Given the description of an element on the screen output the (x, y) to click on. 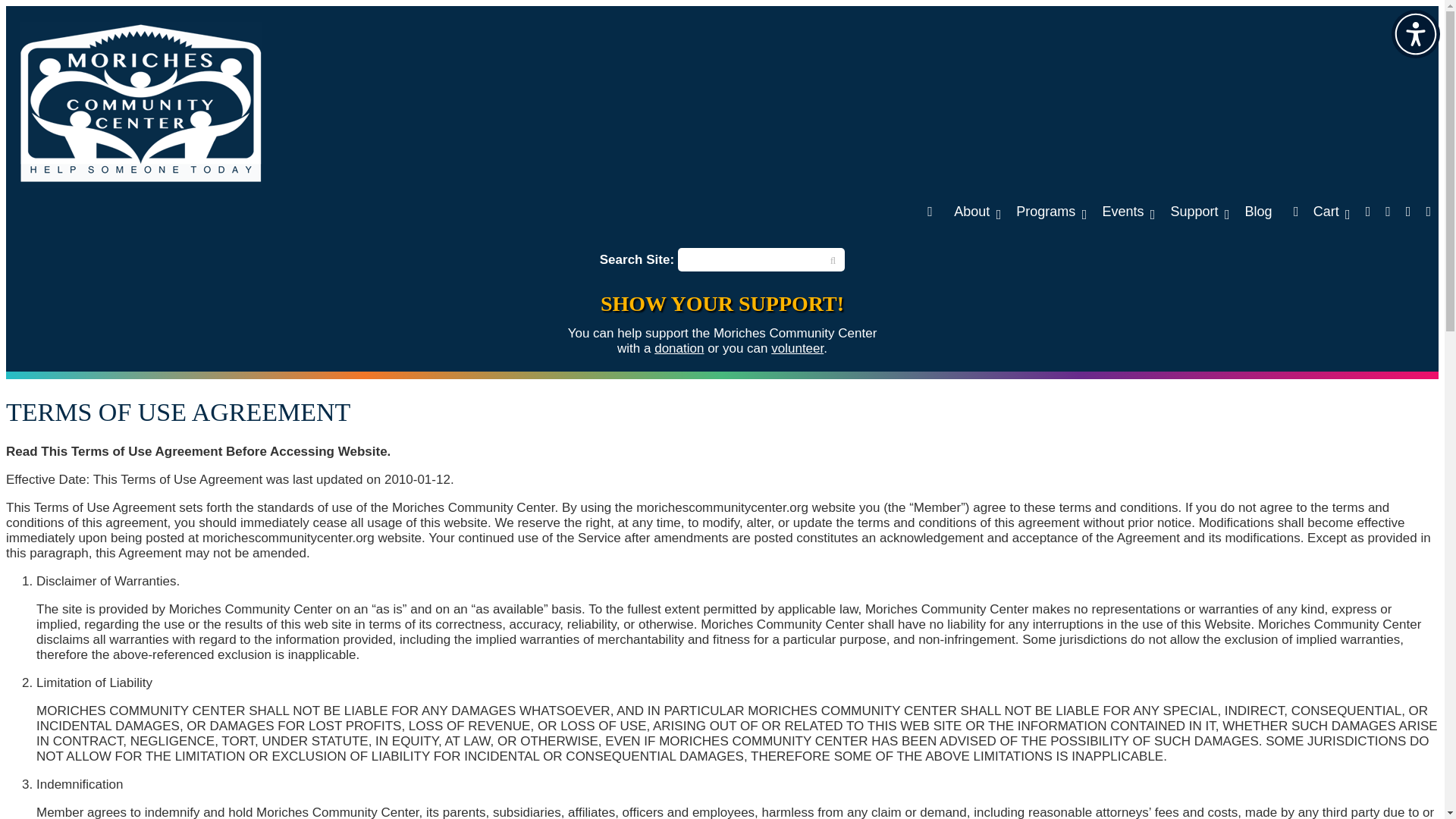
Blog (1257, 211)
donation (678, 348)
Events (1127, 211)
SHOW YOUR SUPPORT! (721, 303)
Volunteer (797, 348)
Cart (1317, 211)
volunteer (797, 348)
About (977, 211)
home (930, 211)
Donate to the Moriches Community Center (721, 303)
Donate to the Moriches Community Center (678, 348)
